Given the description of an element on the screen output the (x, y) to click on. 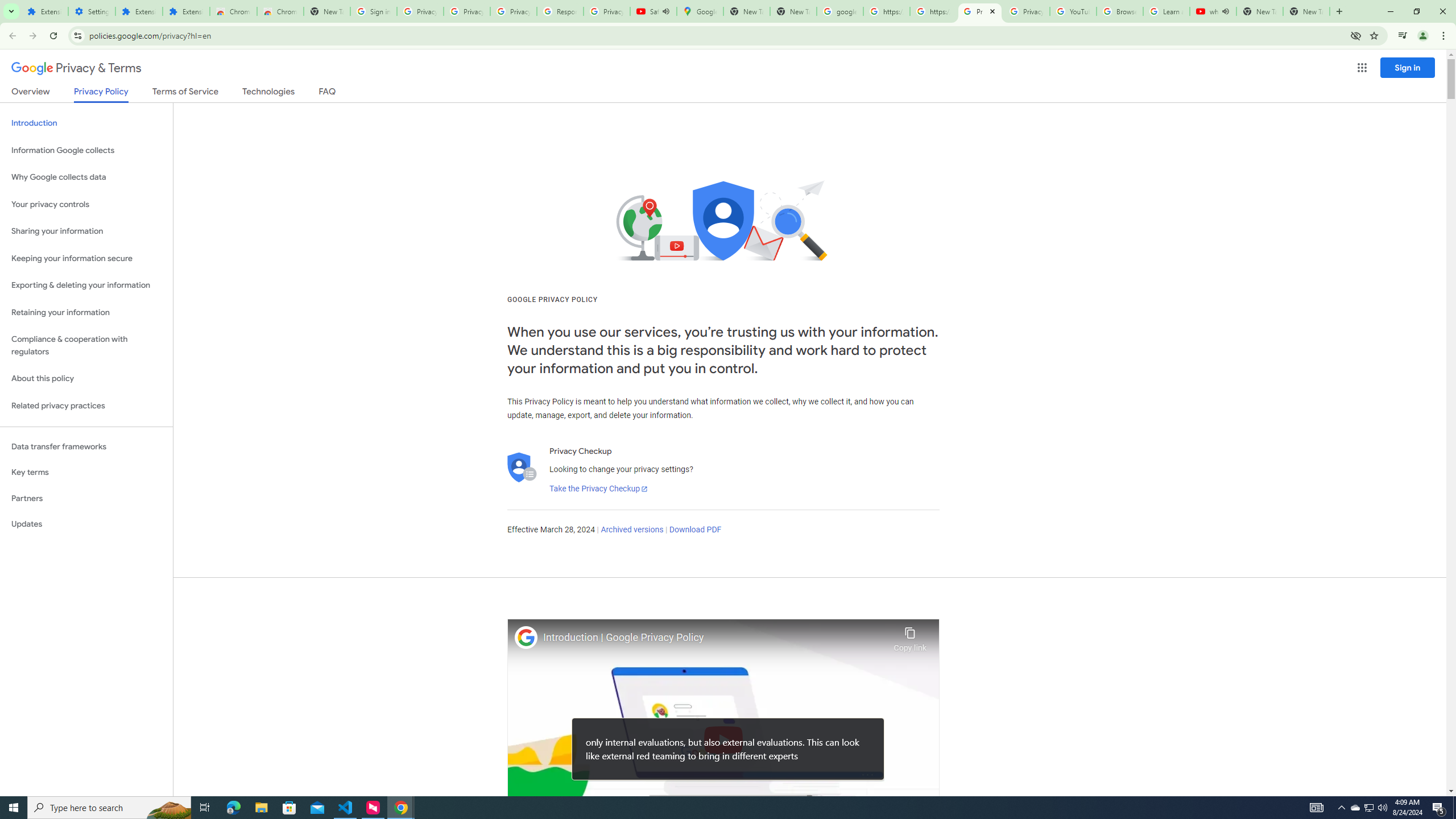
Chrome Web Store (233, 11)
Exporting & deleting your information (86, 284)
Your privacy controls (86, 204)
Mute tab (1225, 10)
New Tab (1306, 11)
Download PDF (695, 529)
Play (723, 739)
YouTube (1073, 11)
Copy link (909, 636)
https://scholar.google.com/ (933, 11)
